Given the description of an element on the screen output the (x, y) to click on. 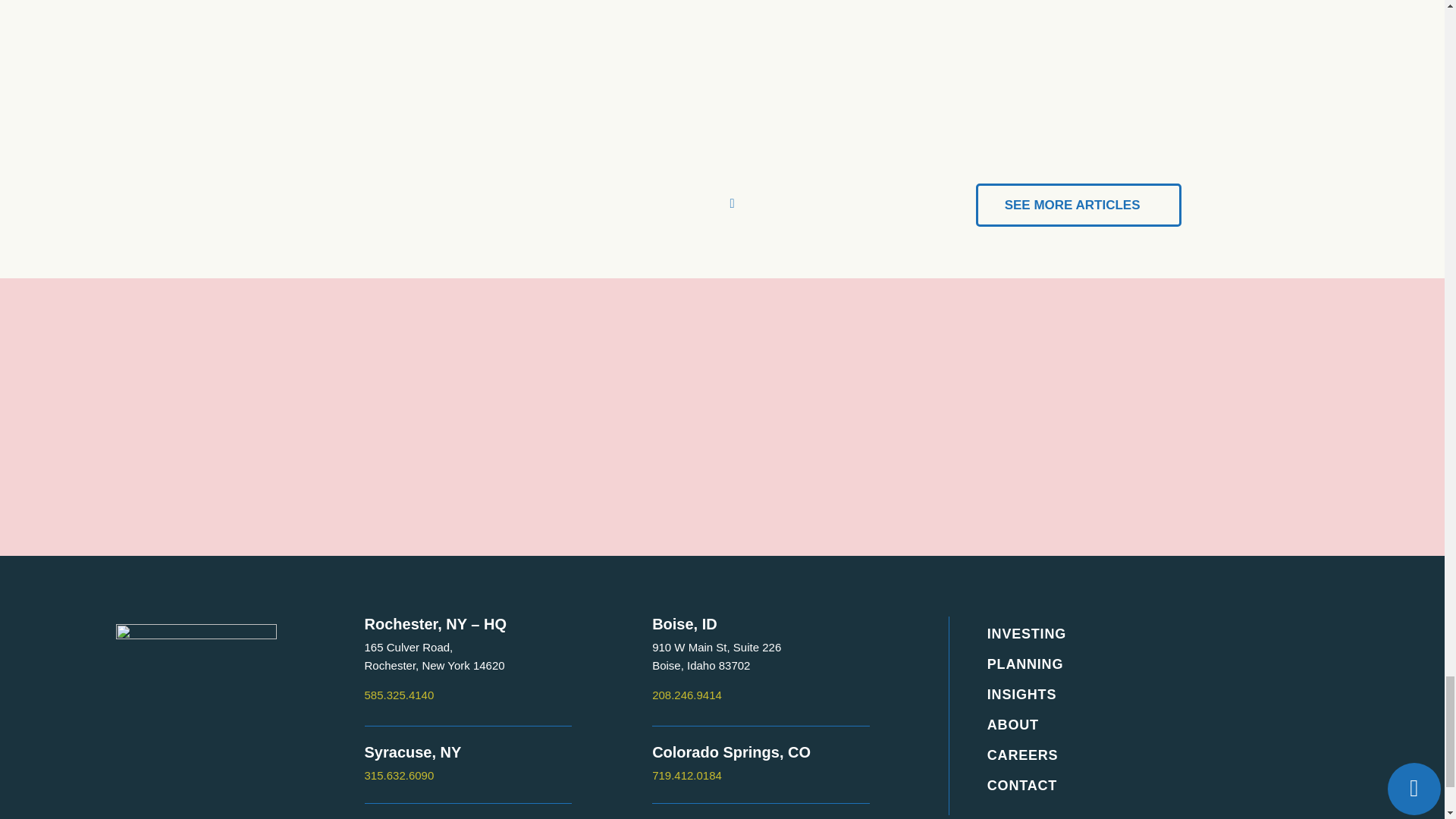
208.246.9414 (435, 655)
Colorado Springs, CO (687, 694)
INVESTING (731, 751)
Boise, ID (1153, 634)
585.325.4140 (684, 623)
SEE MORE ARTICLES (716, 655)
Syracuse, NY (399, 694)
PLANNING (1077, 204)
315.632.6090 (413, 751)
719.412.0184 (1153, 664)
